Given the description of an element on the screen output the (x, y) to click on. 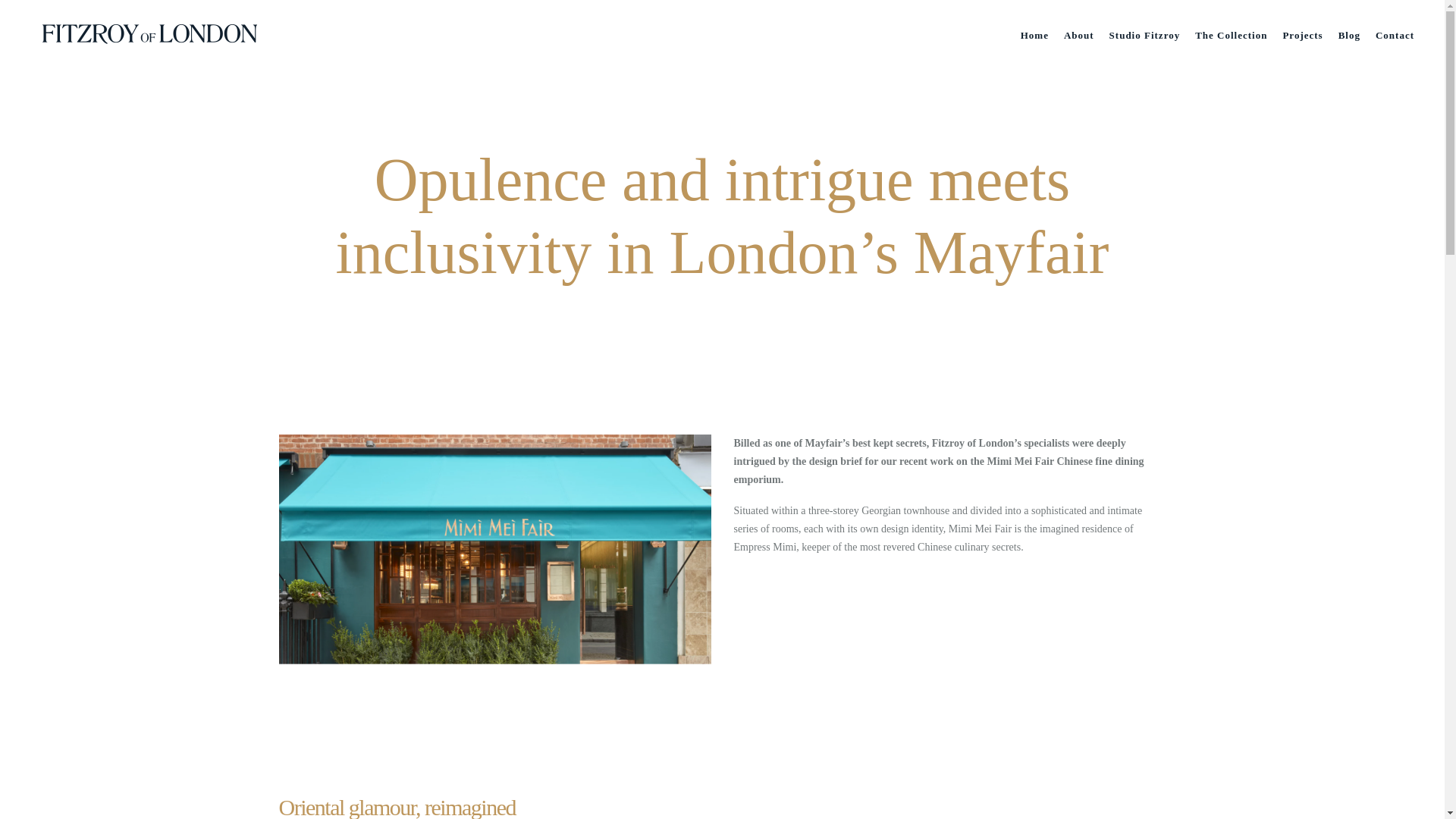
The Collection (1231, 35)
Studio Fitzroy (1145, 35)
Fitzroy of London (151, 34)
